Given the description of an element on the screen output the (x, y) to click on. 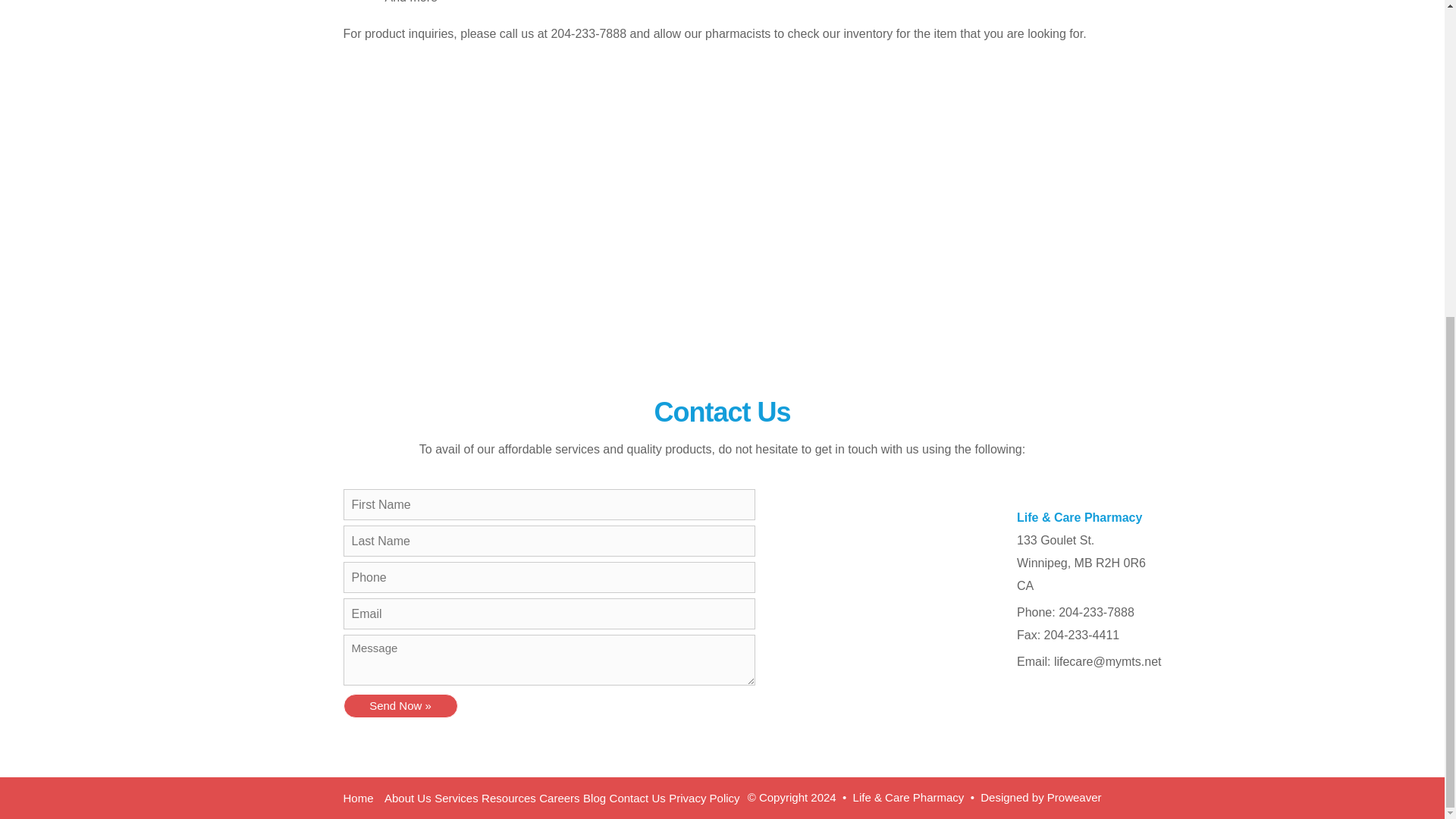
Proweaver (1074, 797)
